Given the description of an element on the screen output the (x, y) to click on. 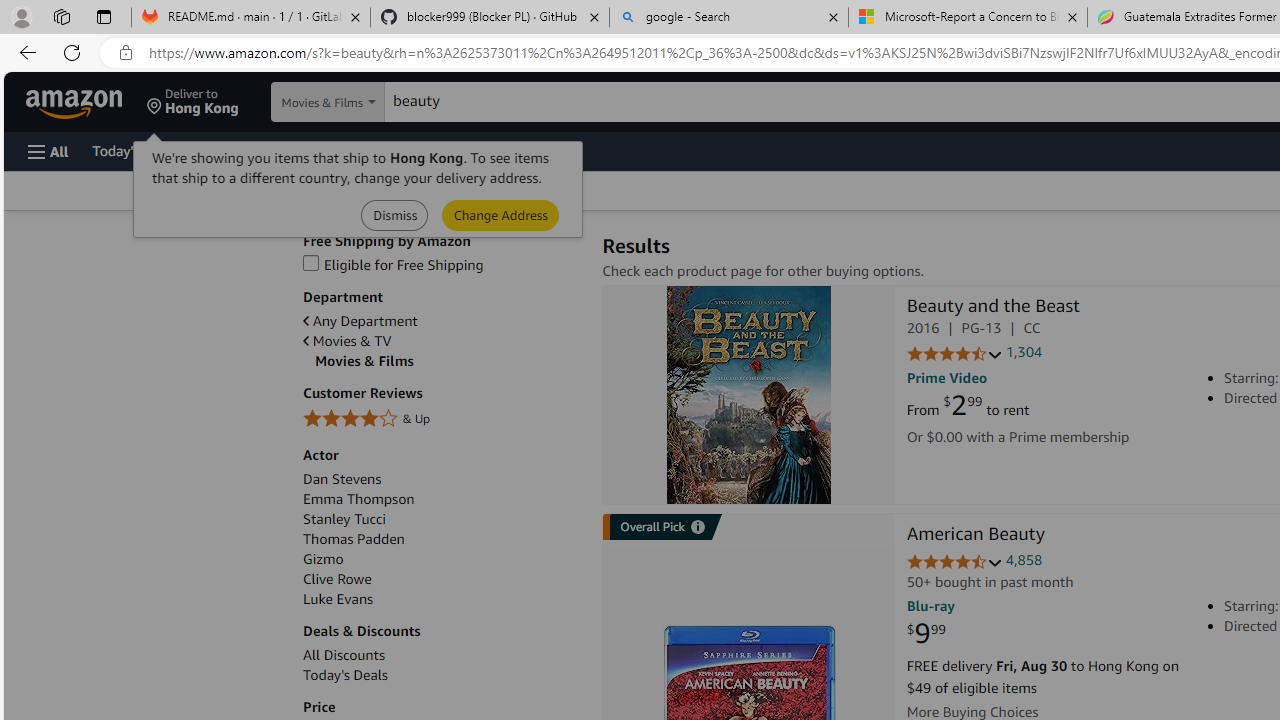
Skip to main content (86, 100)
Gizmo (442, 559)
All Discounts (344, 655)
Movies & Films (448, 361)
View site information (125, 53)
Prime Video (947, 378)
Dan Stevens (442, 479)
Emma Thompson (358, 499)
4 Stars & Up& Up (442, 420)
Emma Thompson (442, 499)
Luke Evans (442, 599)
Thomas Padden (353, 538)
Dan Stevens (342, 479)
Thomas Padden (442, 539)
